Given the description of an element on the screen output the (x, y) to click on. 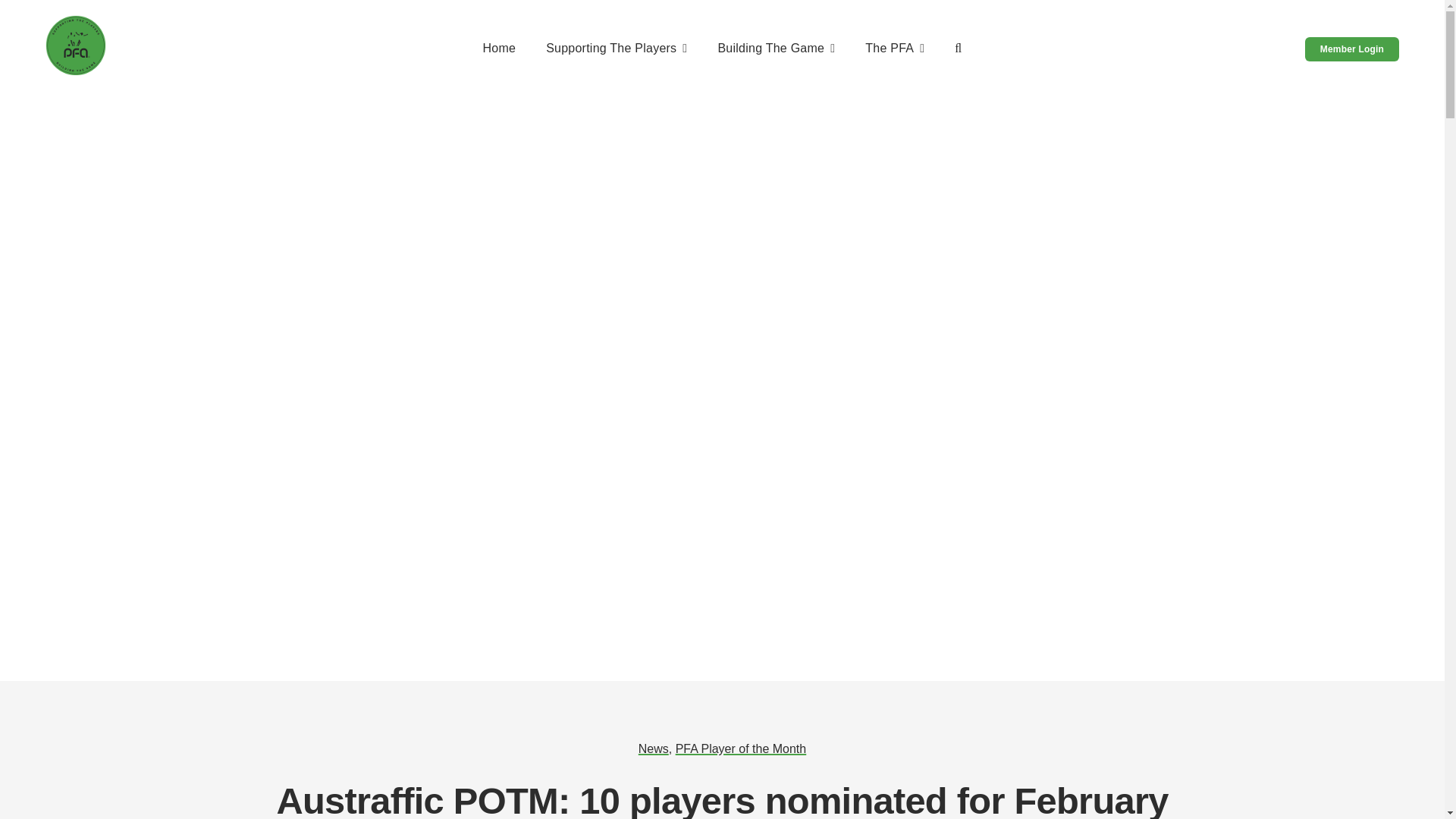
The PFA (894, 49)
PFA Player of the Month (740, 748)
Building The Game (775, 49)
Member Login (1351, 48)
PFA Player of the Month (740, 748)
News (653, 748)
Home (498, 49)
Supporting The Players (616, 49)
News (653, 748)
